Given the description of an element on the screen output the (x, y) to click on. 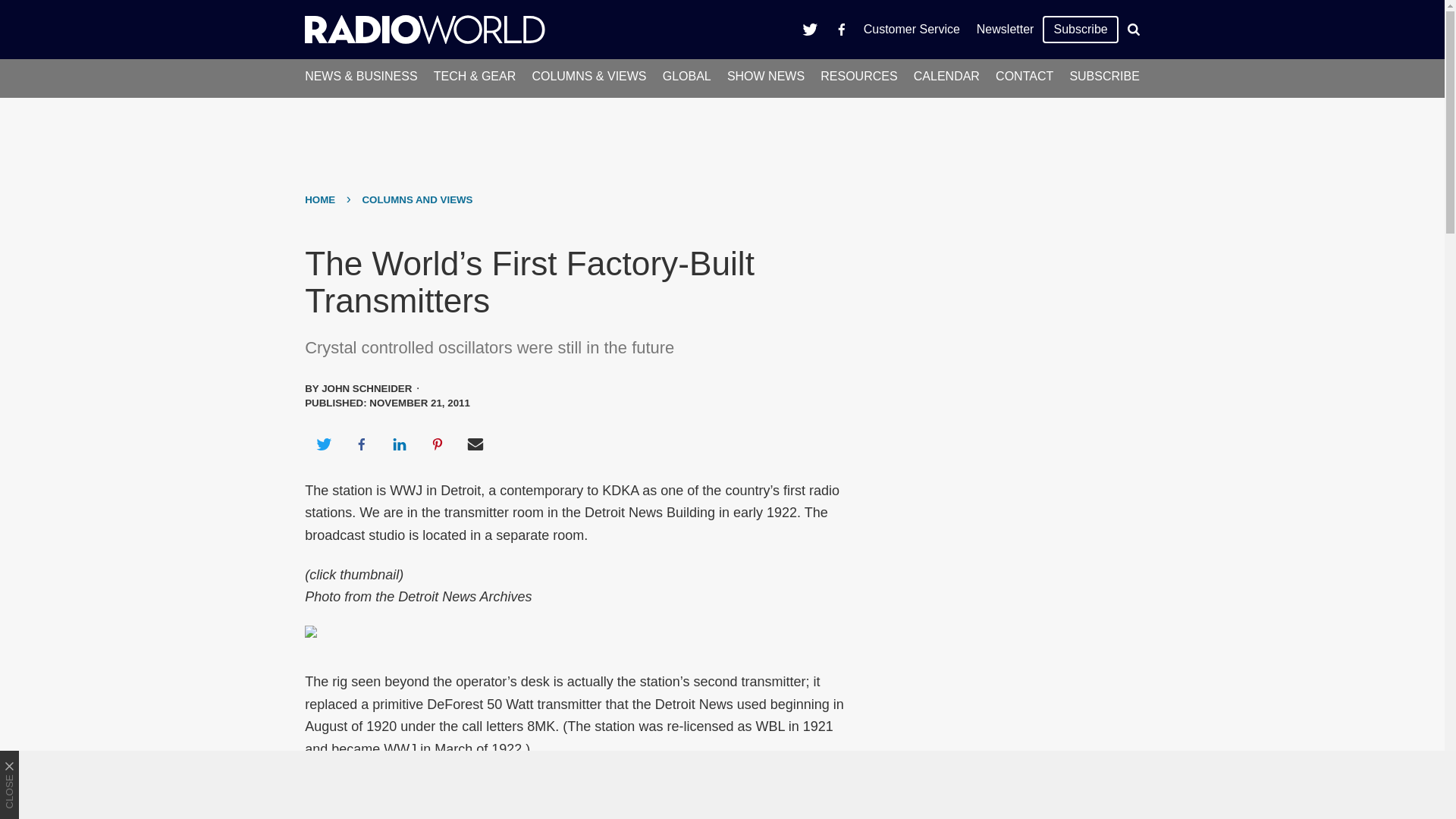
Share on Pinterest (438, 444)
Customer Service (912, 29)
Share on Twitter (323, 444)
Share via Email (476, 444)
Share on Facebook (361, 444)
Share on LinkedIn (399, 444)
